Given the description of an element on the screen output the (x, y) to click on. 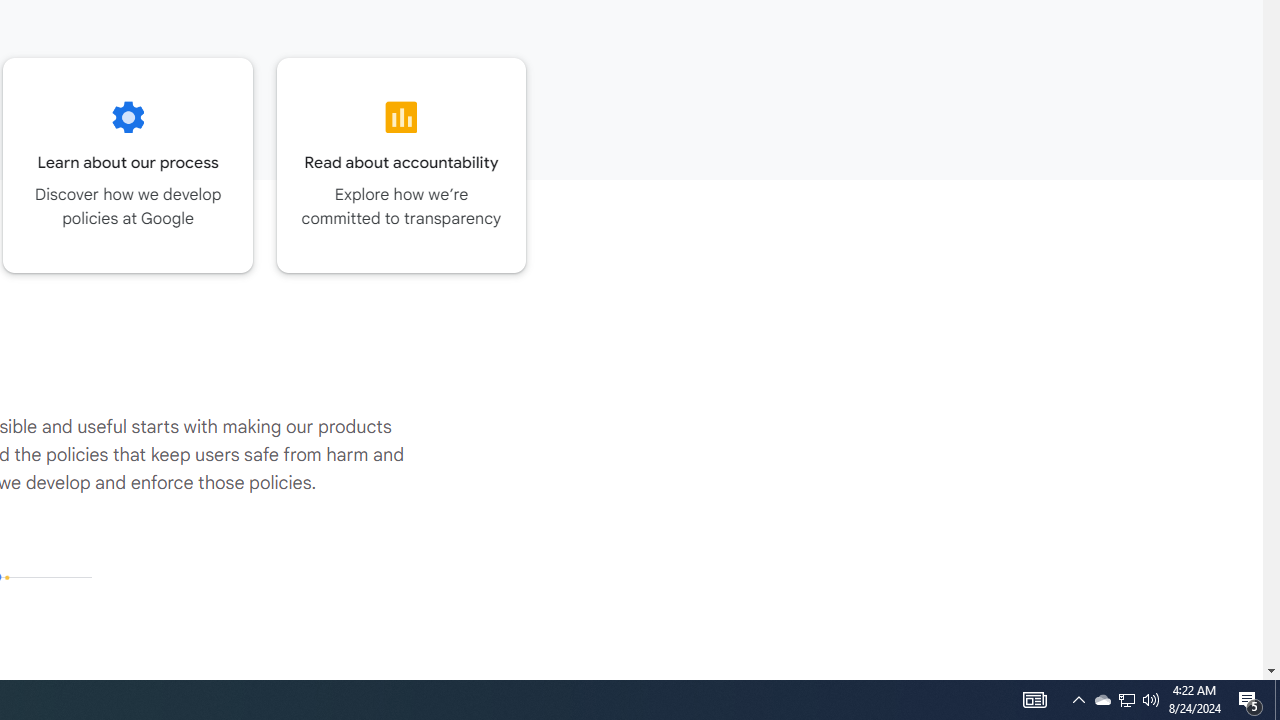
Go to the Our process page (127, 165)
Go to the Accountability page (401, 165)
